Given the description of an element on the screen output the (x, y) to click on. 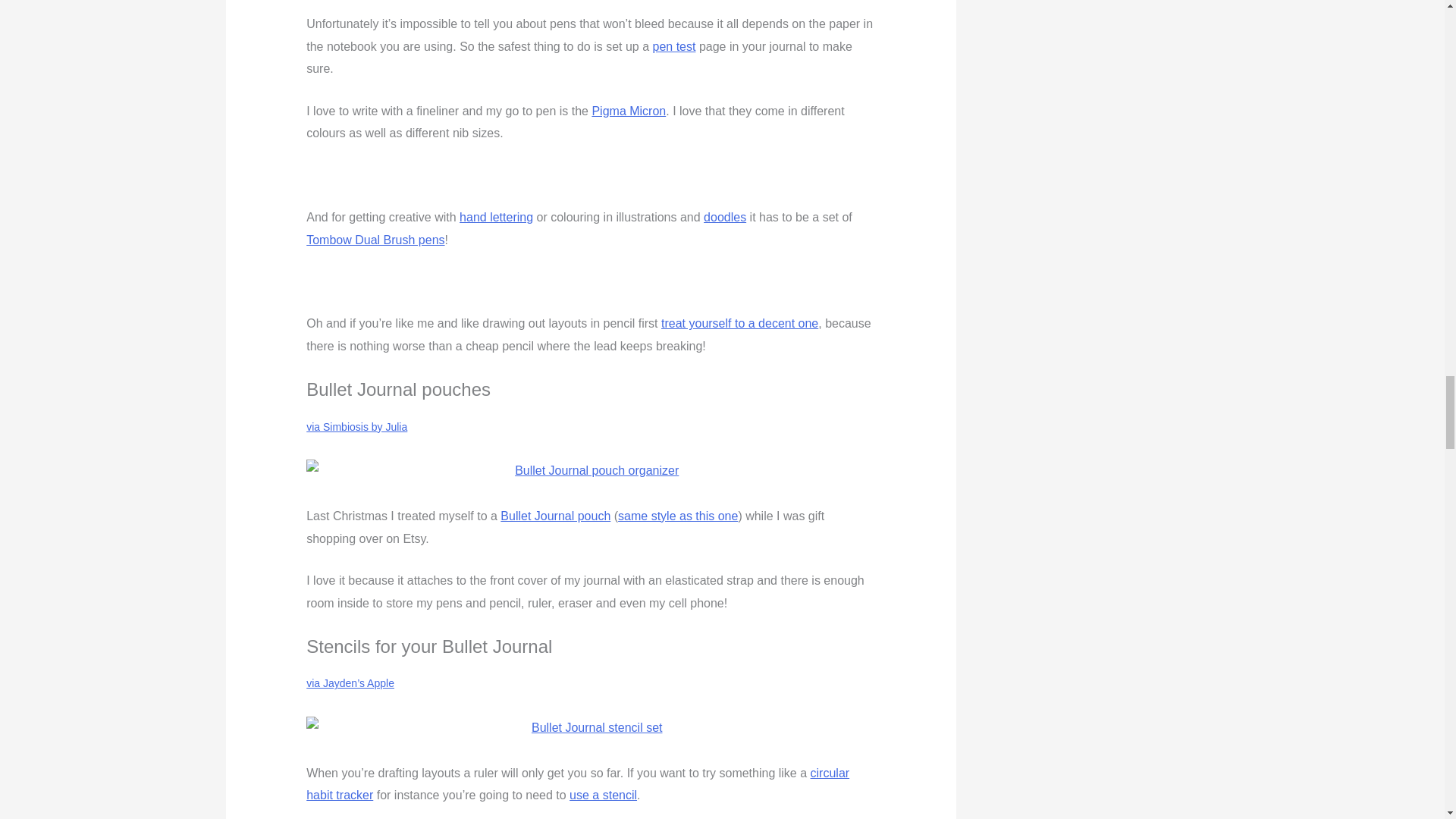
treat yourself to a decent one (739, 323)
pen test (673, 46)
circular habit tracker (576, 784)
doodles (724, 216)
Pigma Micron (628, 110)
Tombow Dual Brush pens (374, 239)
use a stencil (603, 794)
same style as this one (677, 515)
hand lettering (496, 216)
Bullet Journal pouch (555, 515)
via Simbiosis by Julia (356, 426)
